Given the description of an element on the screen output the (x, y) to click on. 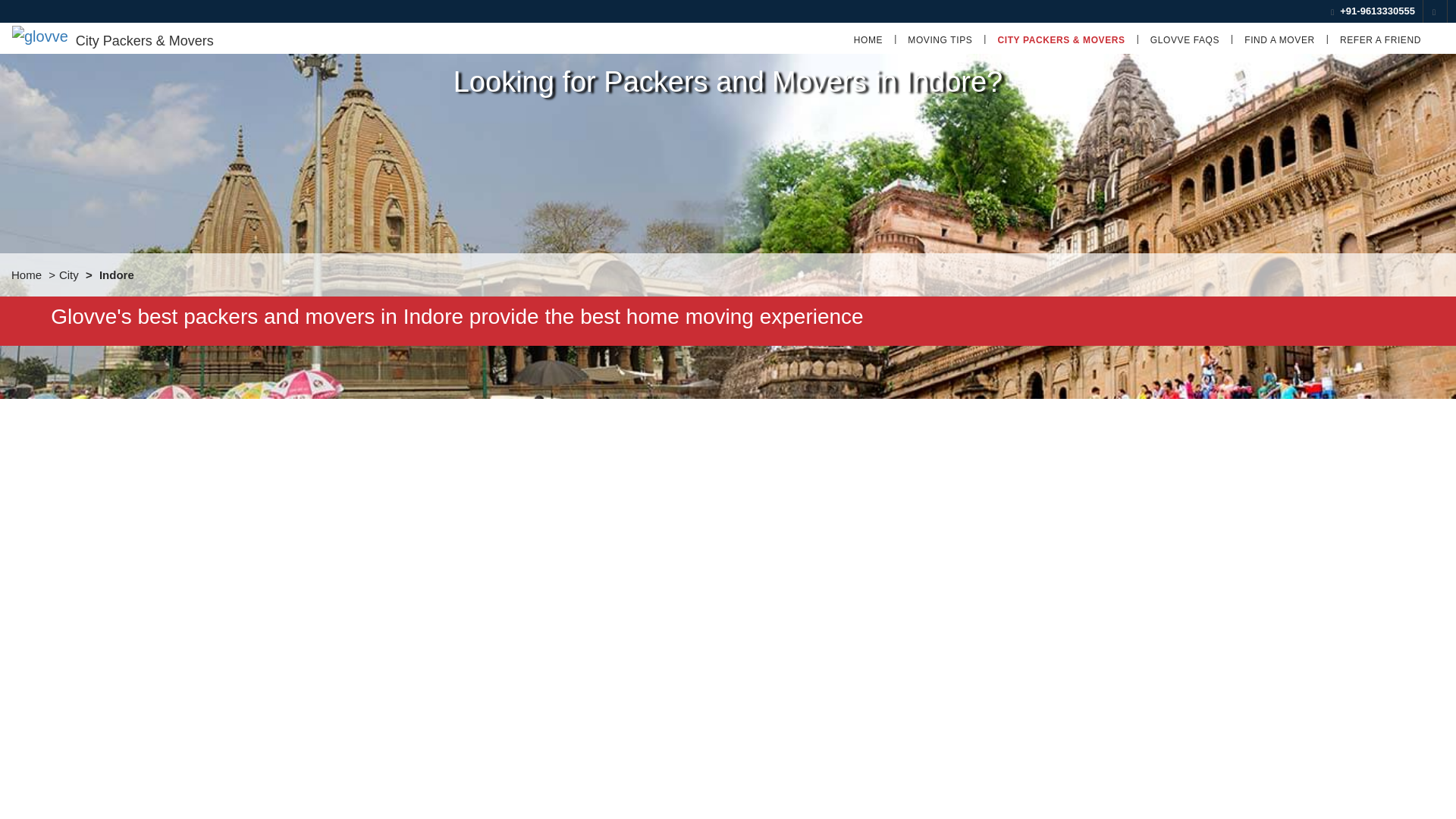
Home (26, 274)
HOME (868, 39)
MOVING TIPS (940, 39)
City (68, 274)
FIND A MOVER (1279, 39)
GLOVVE FAQS (1184, 39)
REFER A FRIEND (1379, 39)
